Given the description of an element on the screen output the (x, y) to click on. 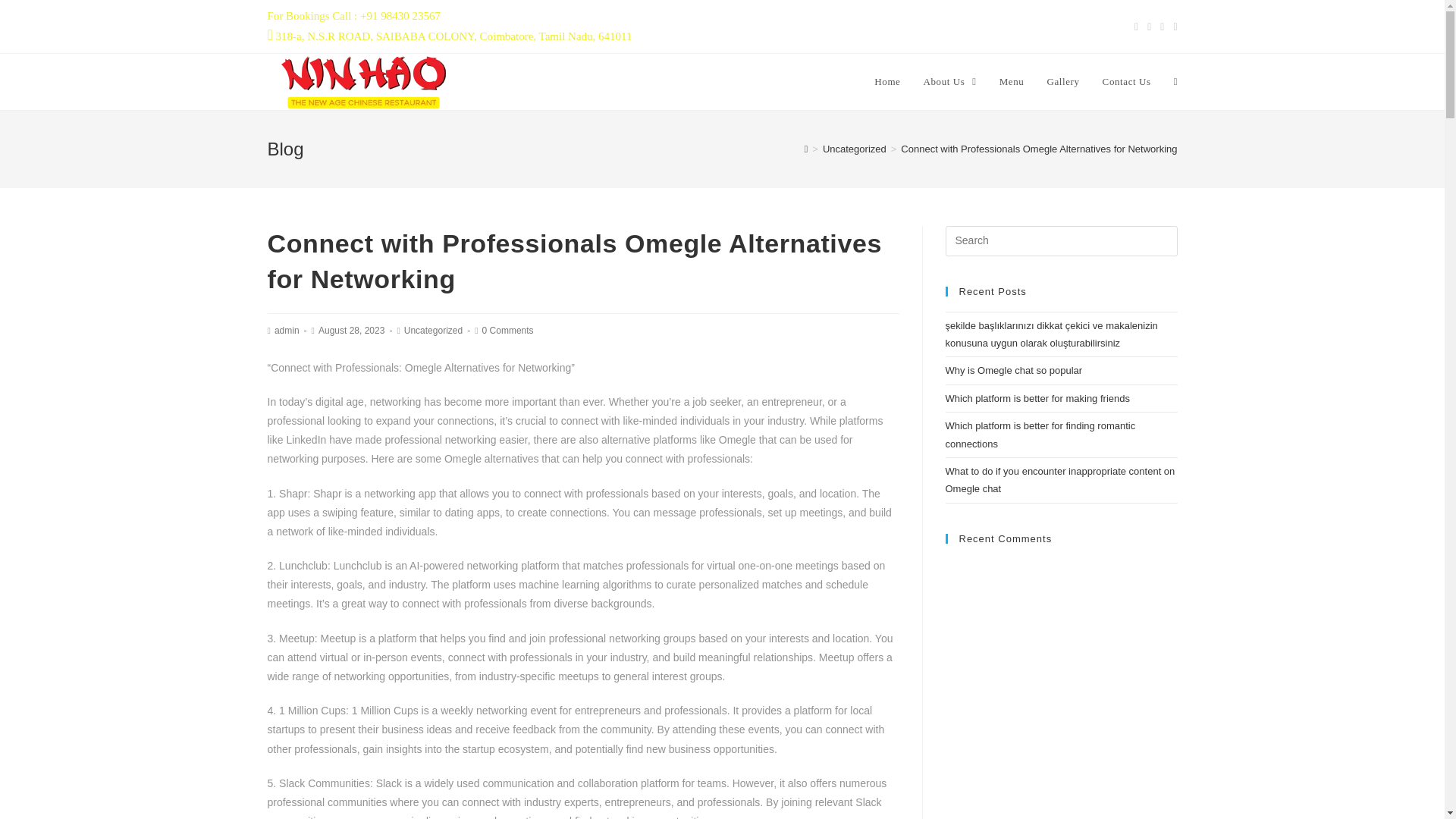
Why is Omegle chat so popular (1012, 369)
Posts by admin (287, 330)
Uncategorized (854, 148)
admin (287, 330)
About Us (949, 81)
Which platform is better for making friends (1036, 398)
Contact Us (1125, 81)
Gallery (1062, 81)
0 Comments (507, 330)
Uncategorized (433, 330)
Which platform is better for finding romantic connections (1039, 434)
